Given the description of an element on the screen output the (x, y) to click on. 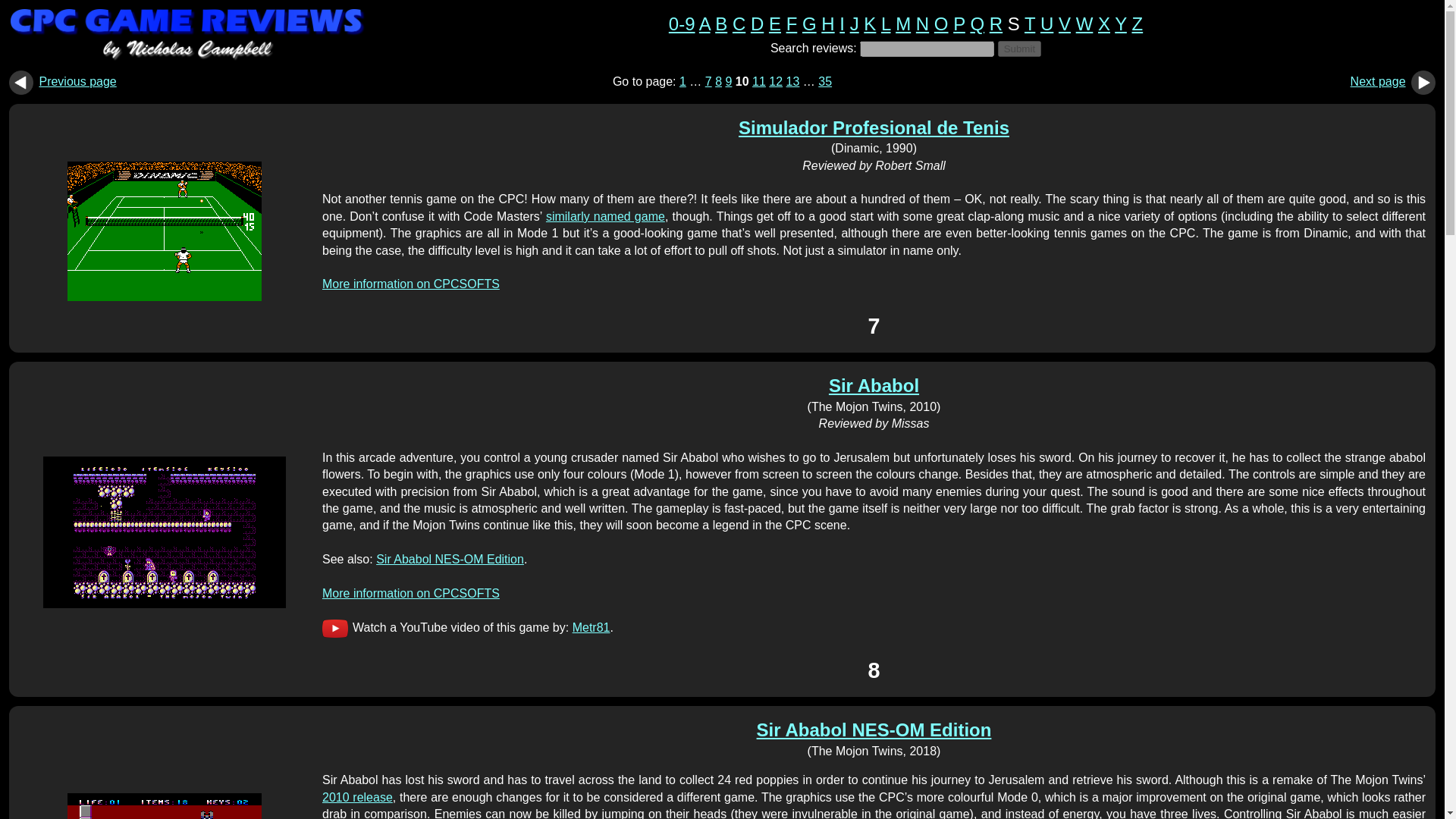
Previous page (77, 81)
11 (758, 81)
Next page (1378, 81)
13 (792, 81)
Submit (1019, 48)
0-9 (681, 23)
12 (775, 81)
35 (824, 81)
Submit (1019, 48)
